Given the description of an element on the screen output the (x, y) to click on. 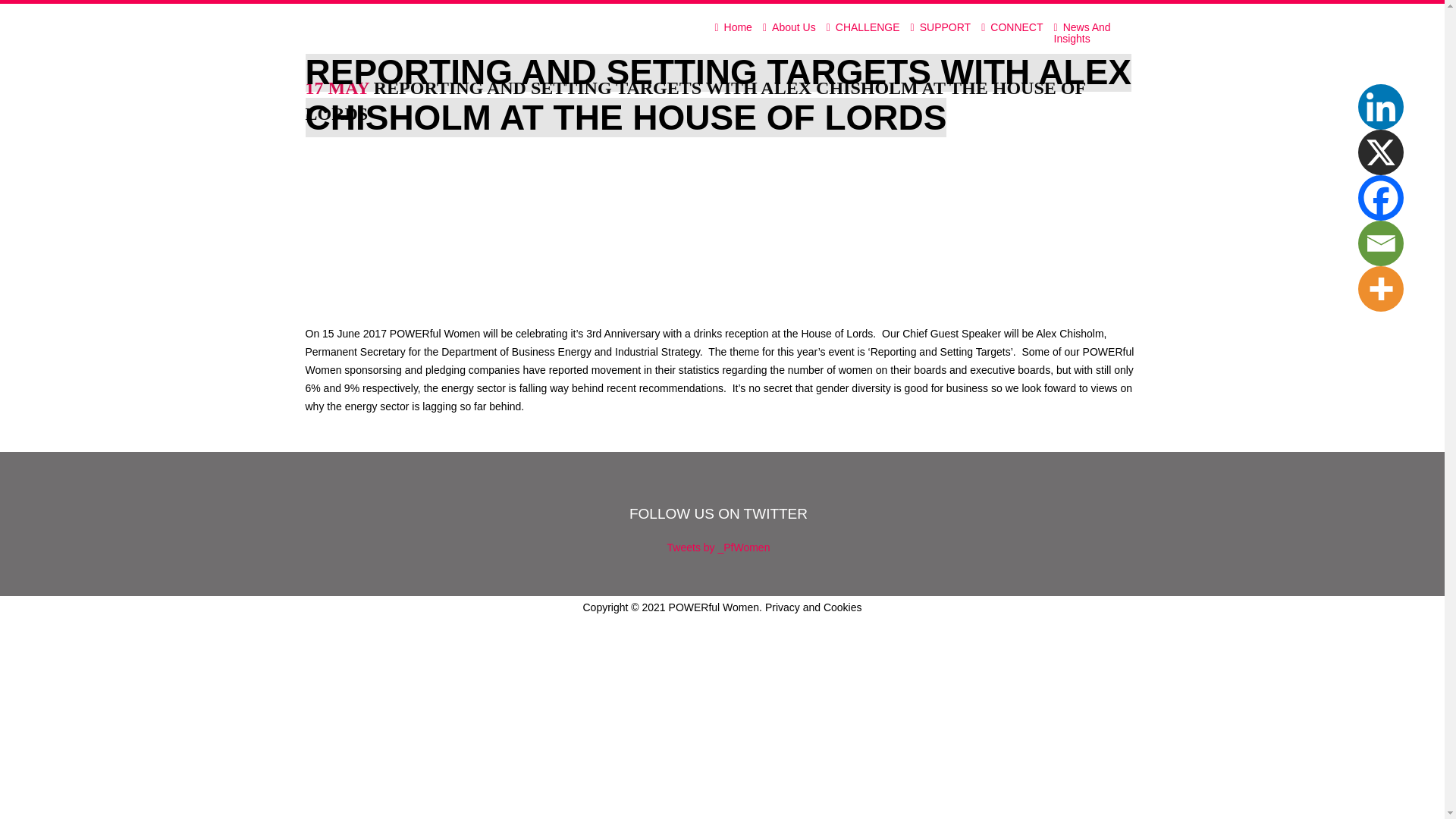
Home (733, 29)
home (733, 29)
Email (1380, 243)
SUPPORT (940, 29)
Linkedin (1380, 106)
More (1380, 289)
Facebook (1380, 197)
News And Insights (1093, 29)
X (1380, 152)
CONNECT (1011, 29)
